Given the description of an element on the screen output the (x, y) to click on. 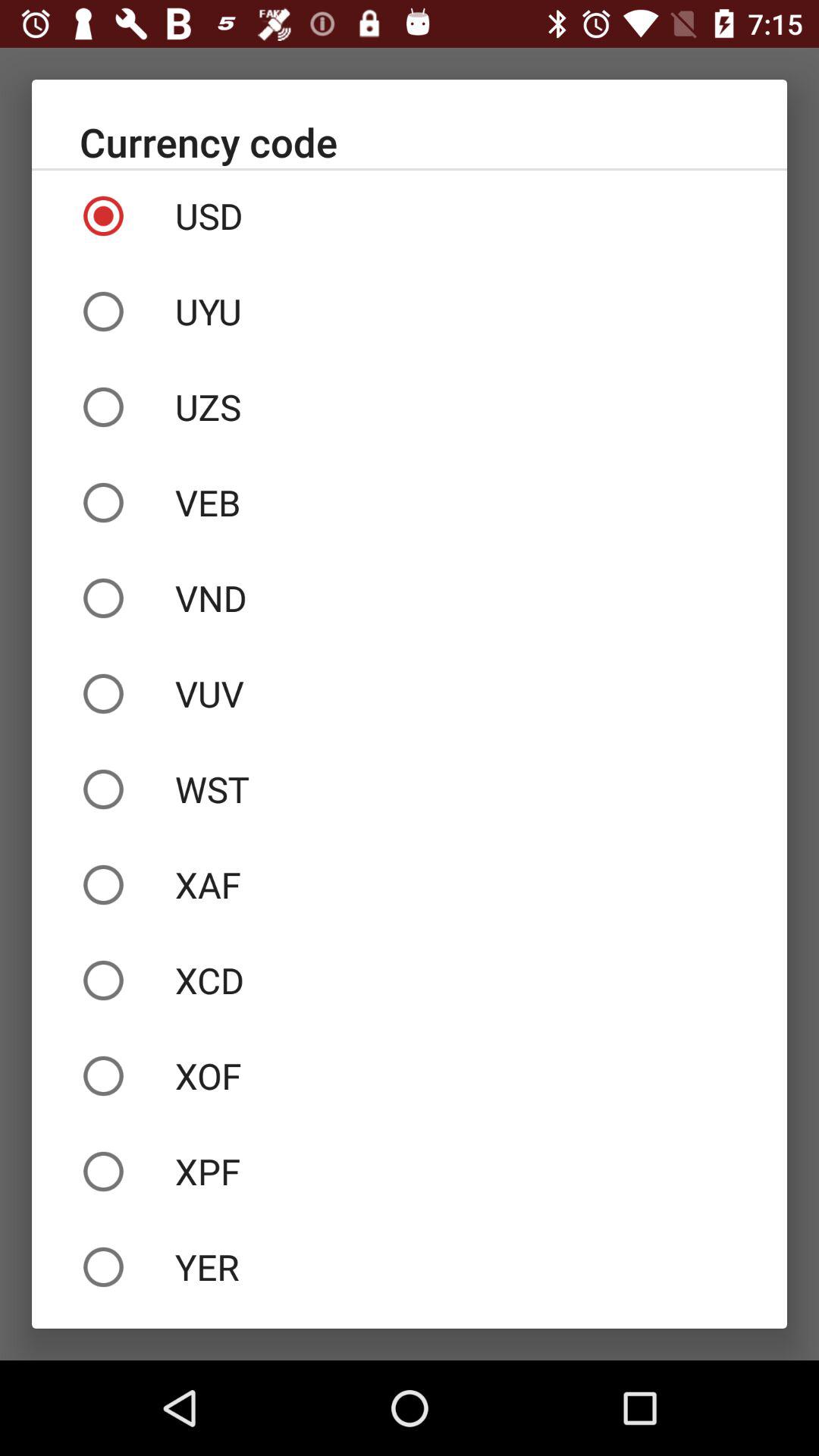
flip to uyu icon (409, 311)
